Given the description of an element on the screen output the (x, y) to click on. 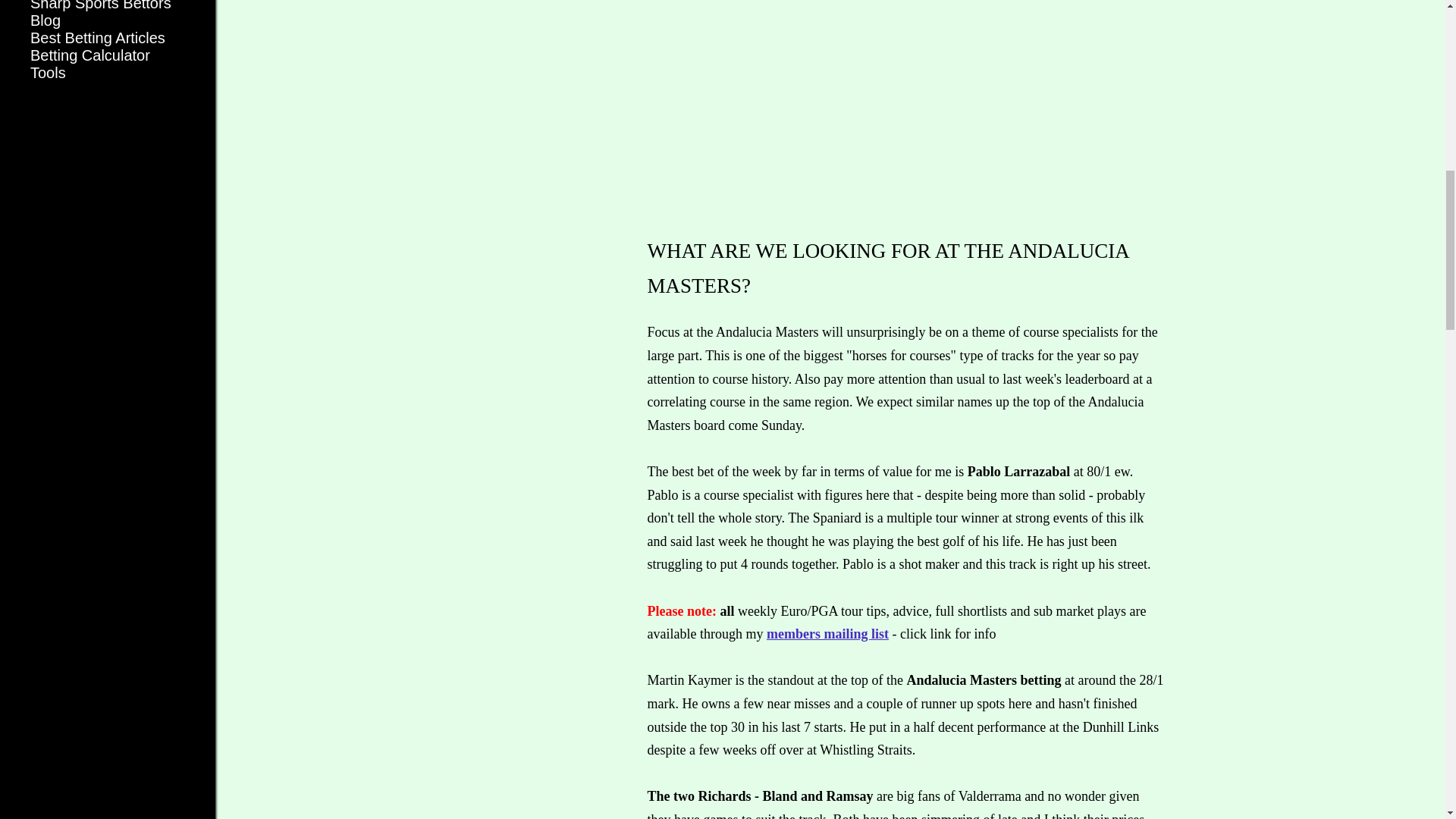
Best Betting Articles (97, 37)
Sharp Sports Bettors Blog (100, 14)
members mailing list (827, 633)
